Given the description of an element on the screen output the (x, y) to click on. 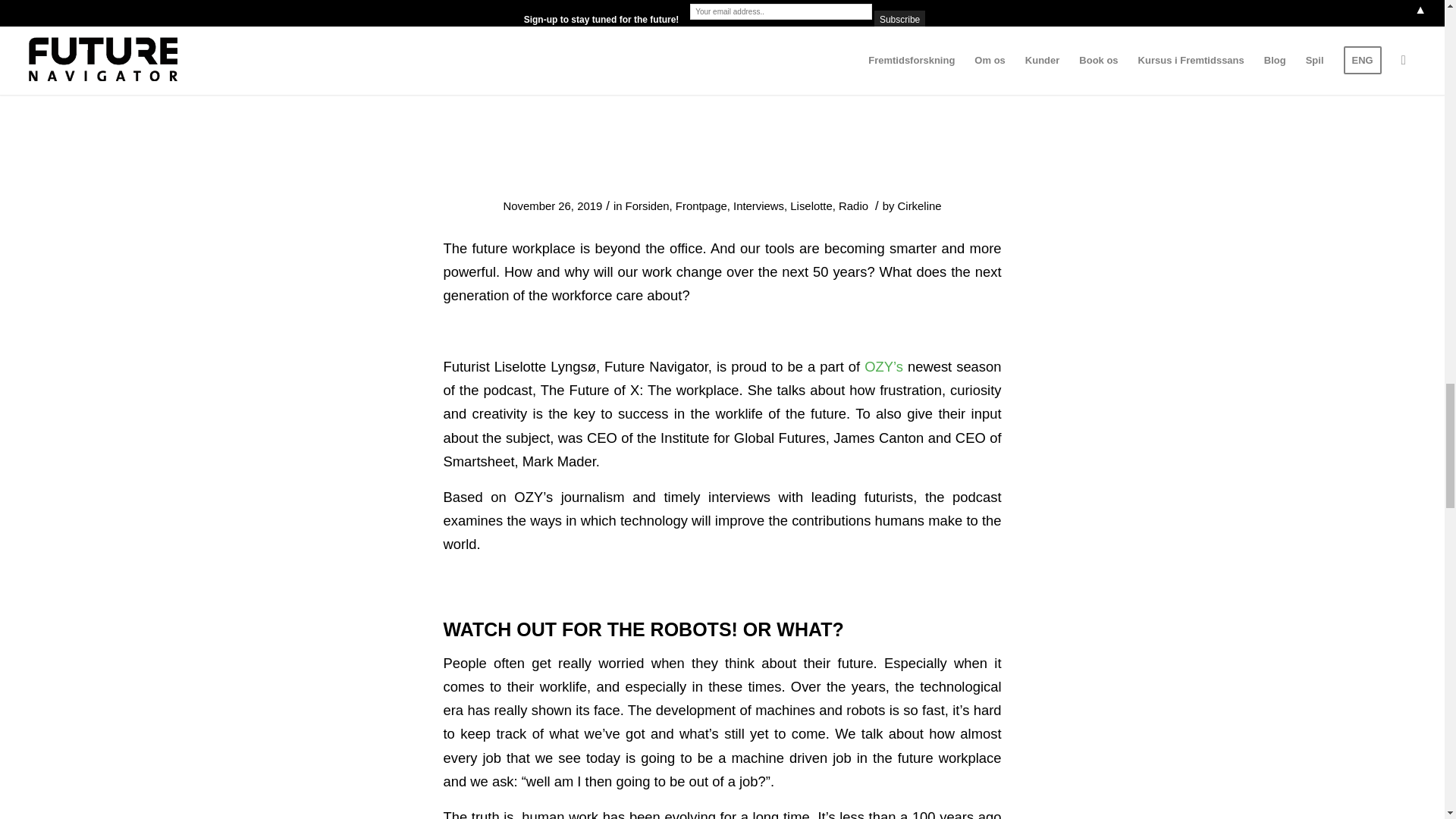
Posts by Cirkeline (920, 205)
